Given the description of an element on the screen output the (x, y) to click on. 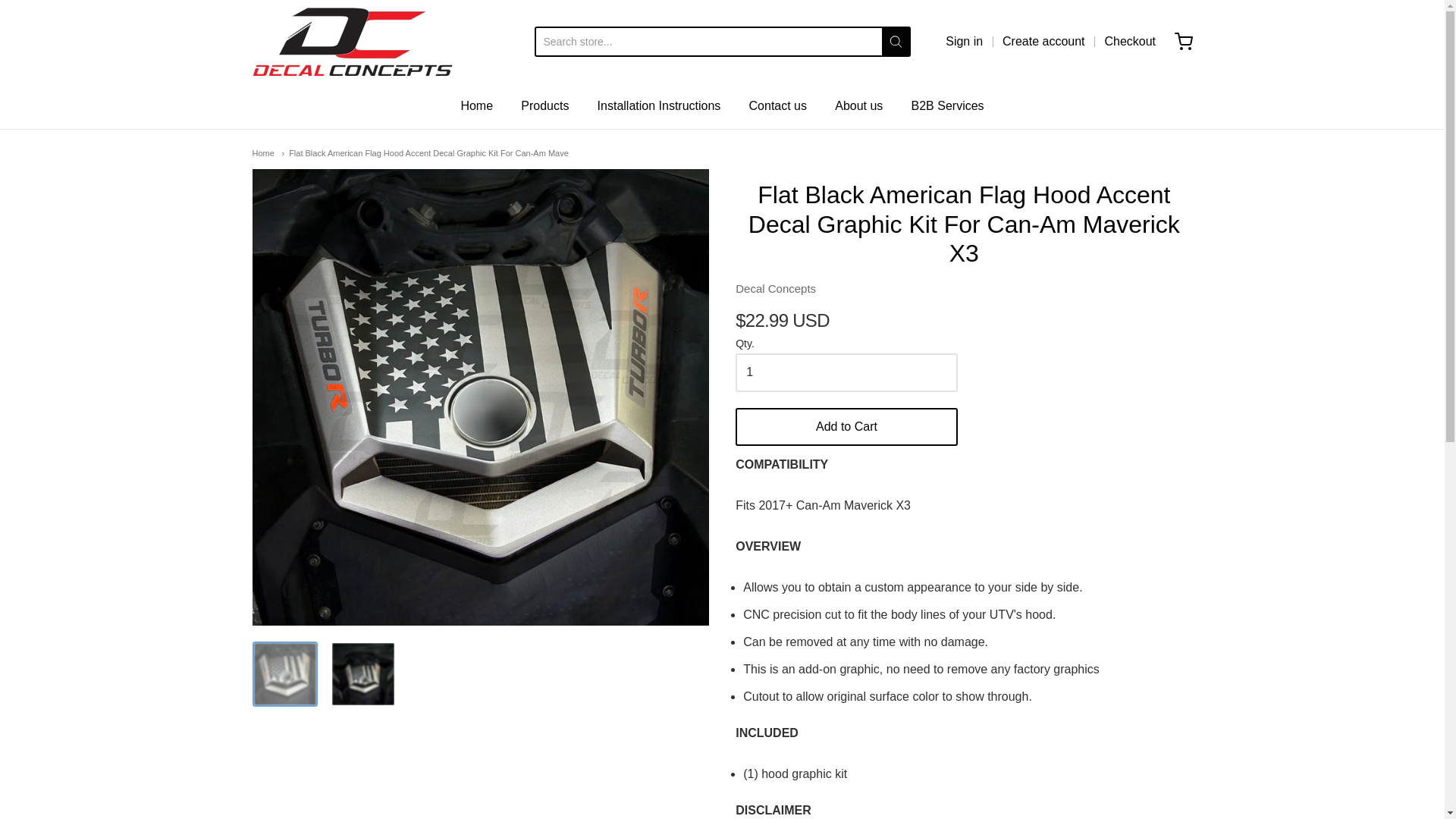
Products (545, 106)
Decal Concepts (775, 287)
Sign in (963, 41)
About us (858, 106)
B2B Services (947, 106)
Decal Concepts (775, 287)
Home (262, 153)
Installation Instructions (658, 106)
1 (846, 371)
Home (476, 106)
Add to Cart (846, 426)
